Given the description of an element on the screen output the (x, y) to click on. 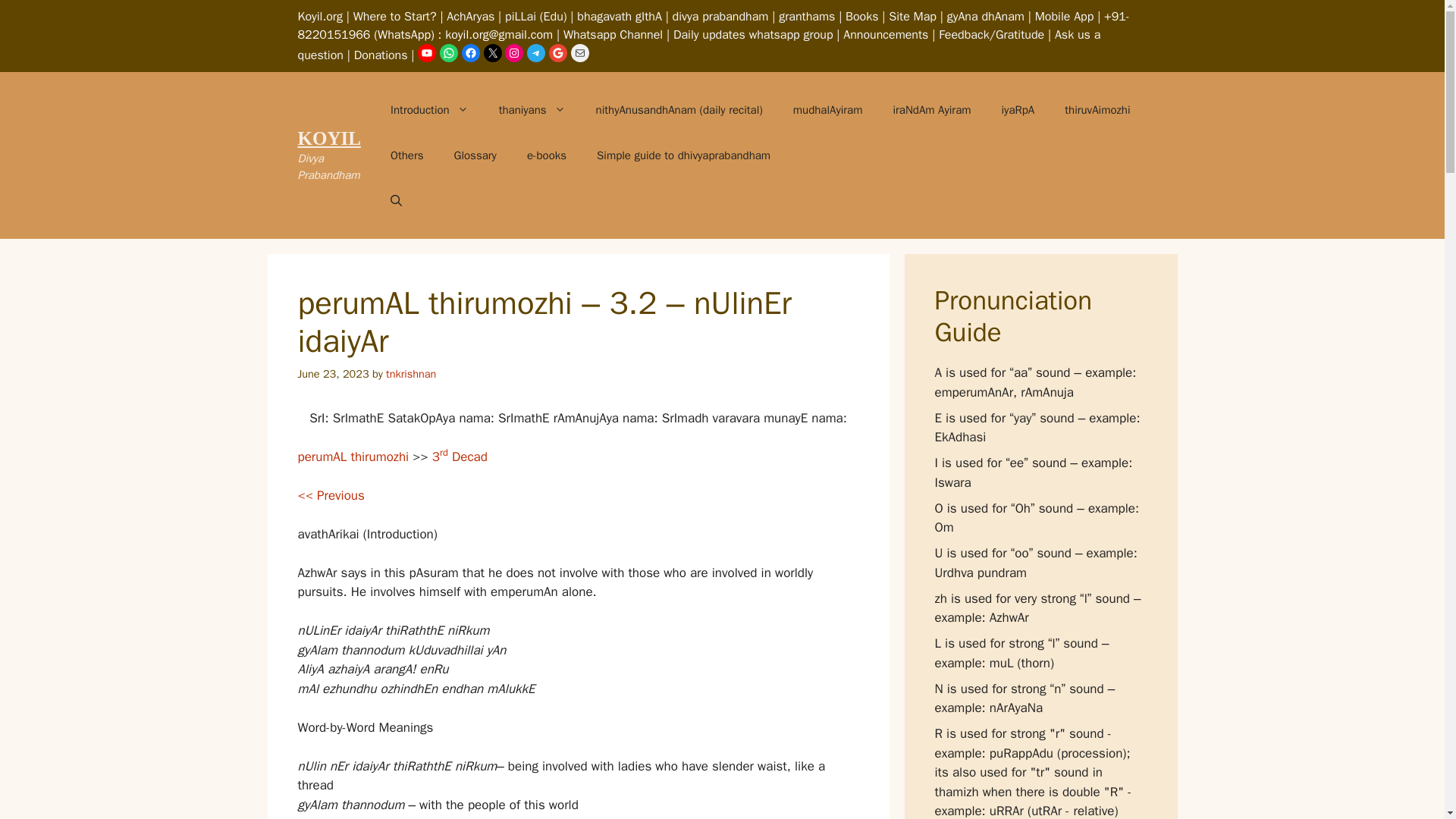
Mail (579, 53)
X (492, 53)
Ask us a question (698, 45)
KOYIL (328, 137)
Koyil.org (319, 16)
granthams (806, 16)
Telegram (535, 53)
bhagavath gIthA (619, 16)
Daily updates whatsapp group (752, 34)
gyAna dhAnam (986, 16)
